Given the description of an element on the screen output the (x, y) to click on. 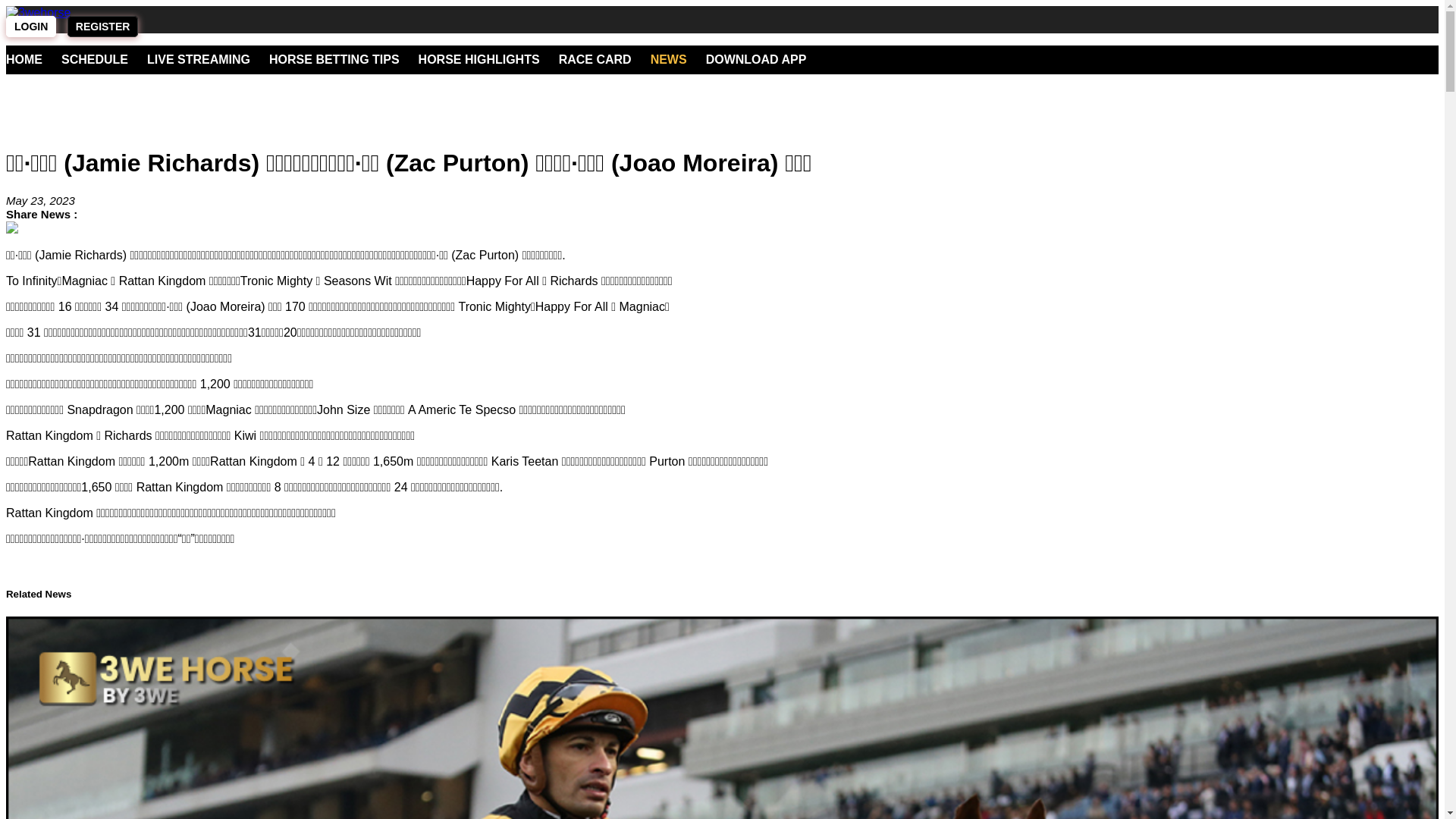
LIVE STREAMING Element type: text (198, 59)
HOME Element type: text (24, 59)
SCHEDULE Element type: text (94, 59)
HORSE HIGHLIGHTS Element type: text (478, 59)
DOWNLOAD APP Element type: text (756, 59)
RACE CARD Element type: text (594, 59)
HORSE BETTING TIPS Element type: text (334, 59)
NEWS Element type: text (668, 59)
LOGIN Element type: text (30, 26)
REGISTER Element type: text (102, 26)
